Given the description of an element on the screen output the (x, y) to click on. 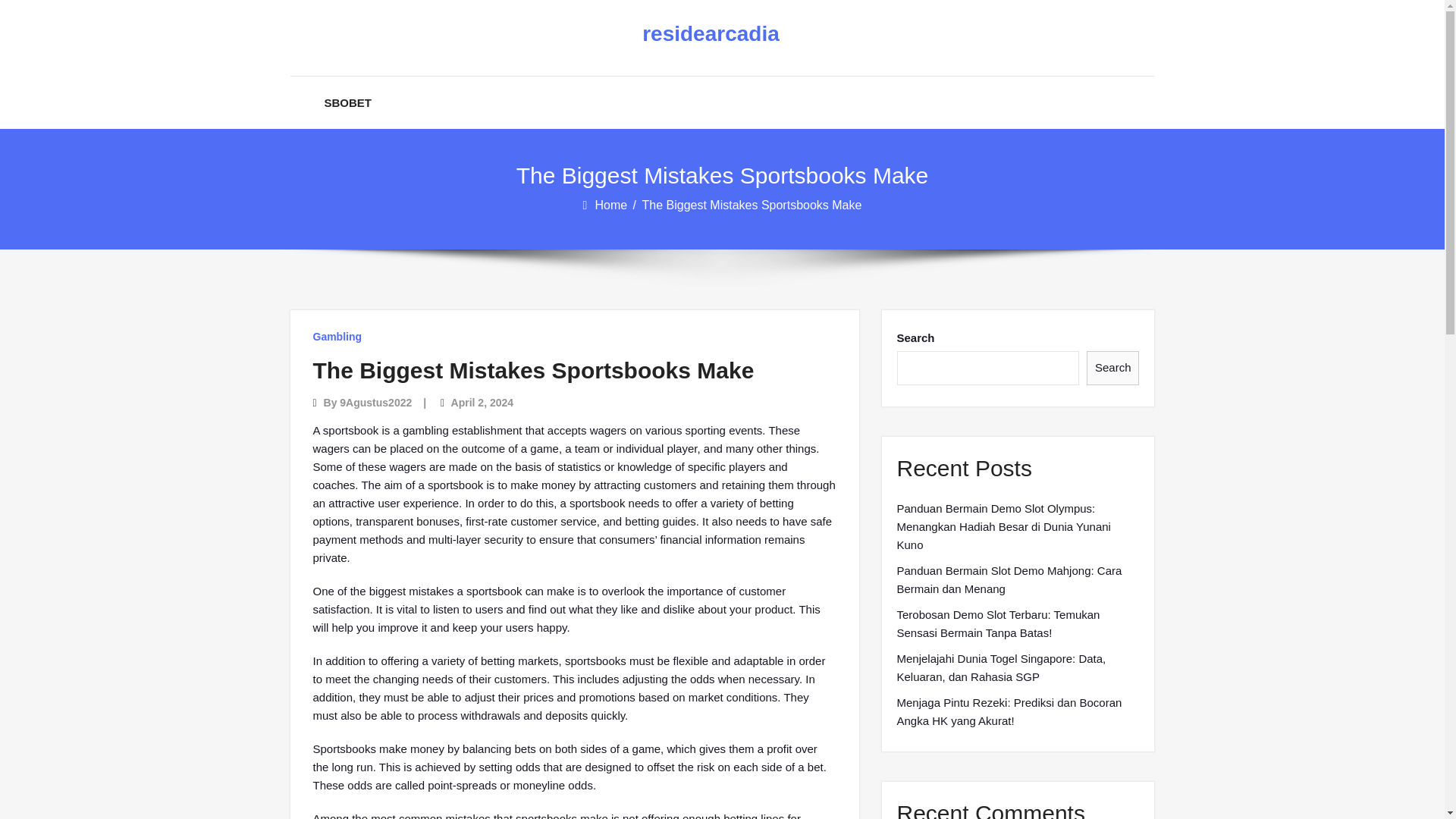
Home (611, 205)
Search (1113, 367)
Gambling (337, 336)
residearcadia (710, 34)
Panduan Bermain Slot Demo Mahjong: Cara Bermain dan Menang (1017, 579)
April 2, 2024 (482, 402)
SBOBET (348, 102)
9Agustus2022 (375, 402)
